Given the description of an element on the screen output the (x, y) to click on. 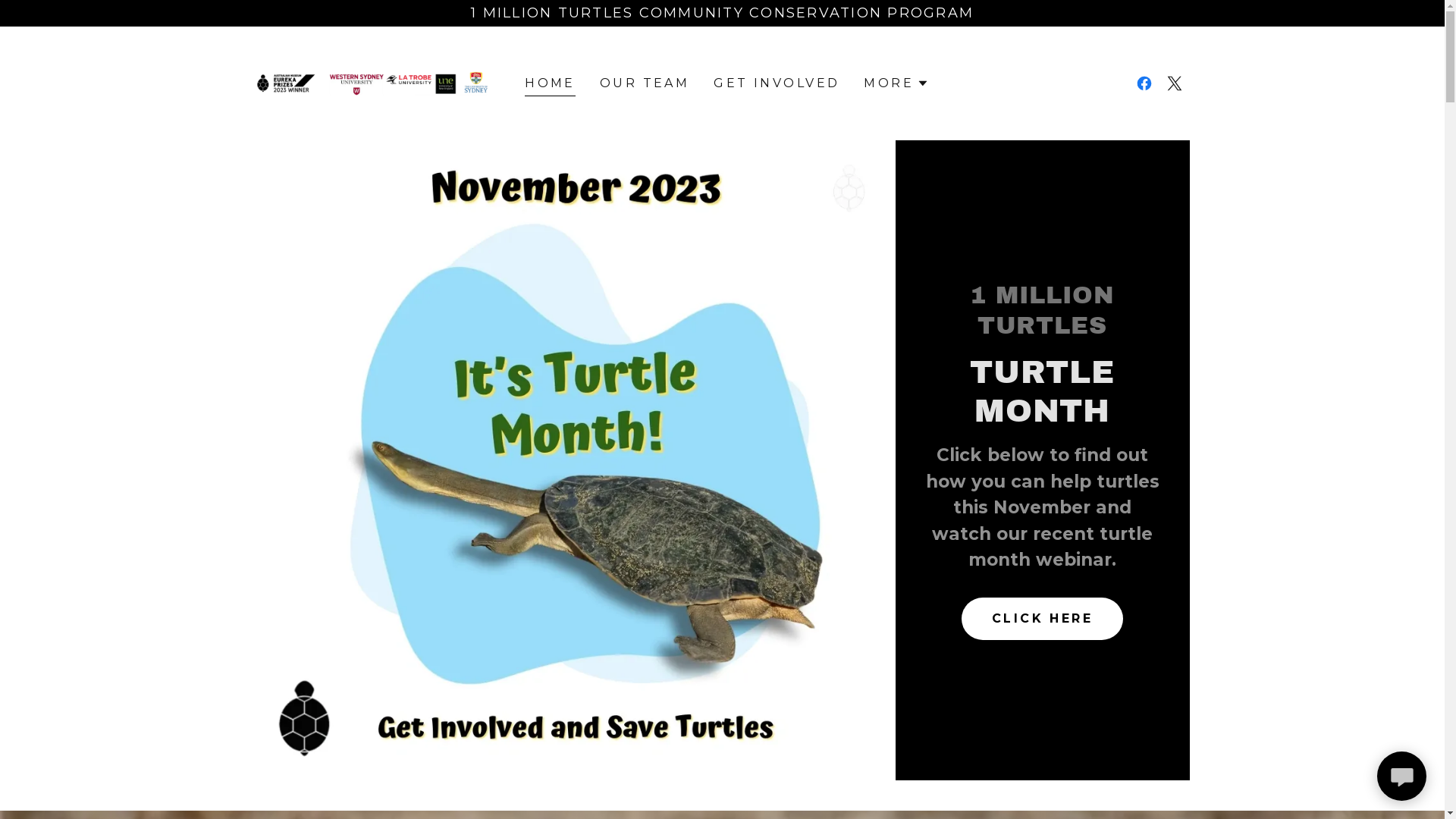
CLICK HERE Element type: text (1042, 618)
OUR TEAM Element type: text (644, 83)
MORE Element type: text (895, 83)
HOME Element type: text (549, 85)
GET INVOLVED Element type: text (776, 83)
